Given the description of an element on the screen output the (x, y) to click on. 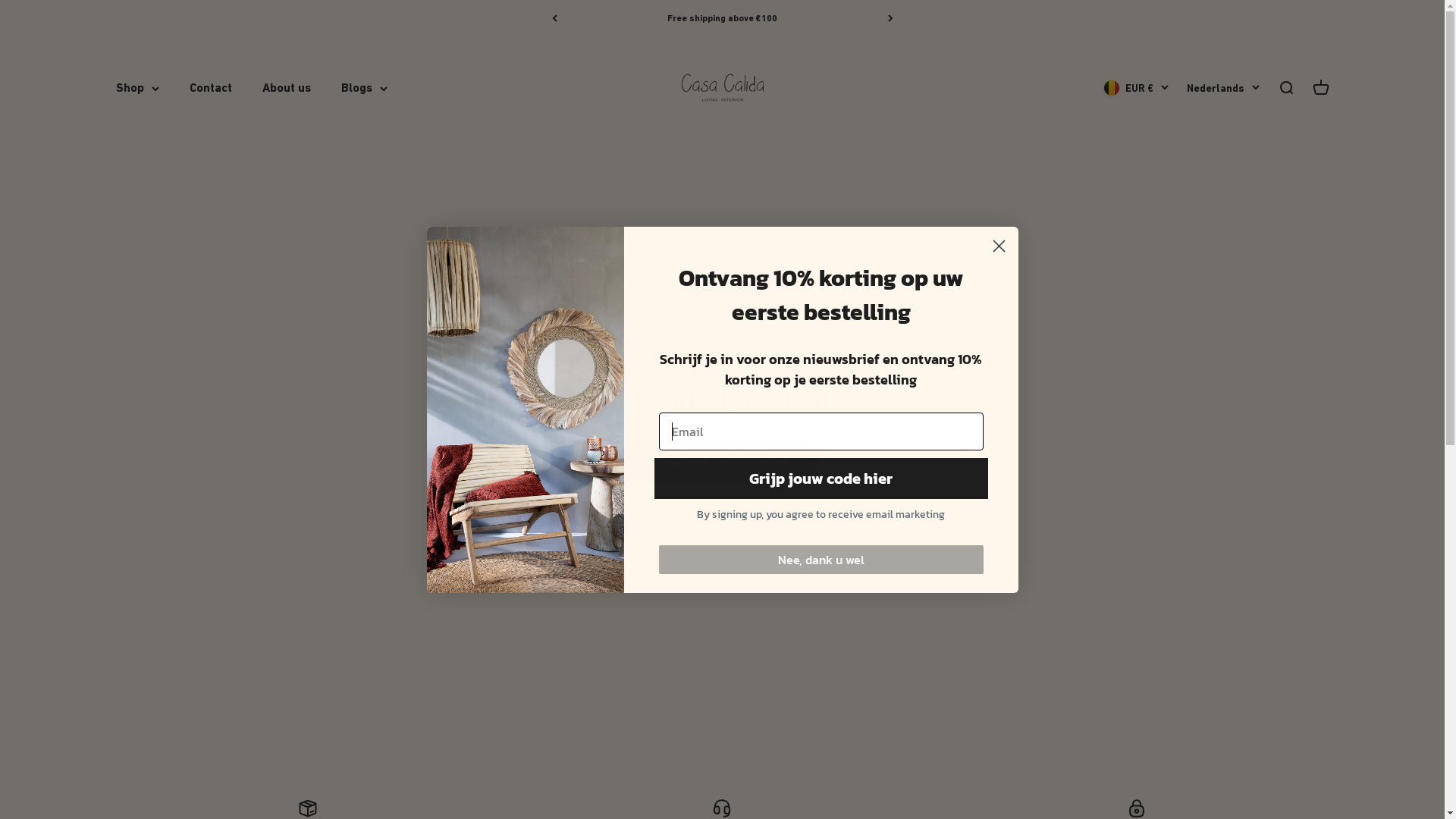
Zoeken openen Element type: text (1285, 87)
Close dialog 1 Element type: text (998, 245)
Doorgaan met winkelen Element type: text (722, 460)
Nee, dank u wel Element type: text (820, 558)
Submit Element type: text (18, 6)
About us Element type: text (286, 88)
Casa Calida Interior Element type: text (721, 87)
Grijp jouw code hier Element type: text (820, 478)
Winkelwagen openen
0 Element type: text (1319, 87)
Nederlands Element type: text (1222, 87)
Contact Element type: text (210, 88)
